Given the description of an element on the screen output the (x, y) to click on. 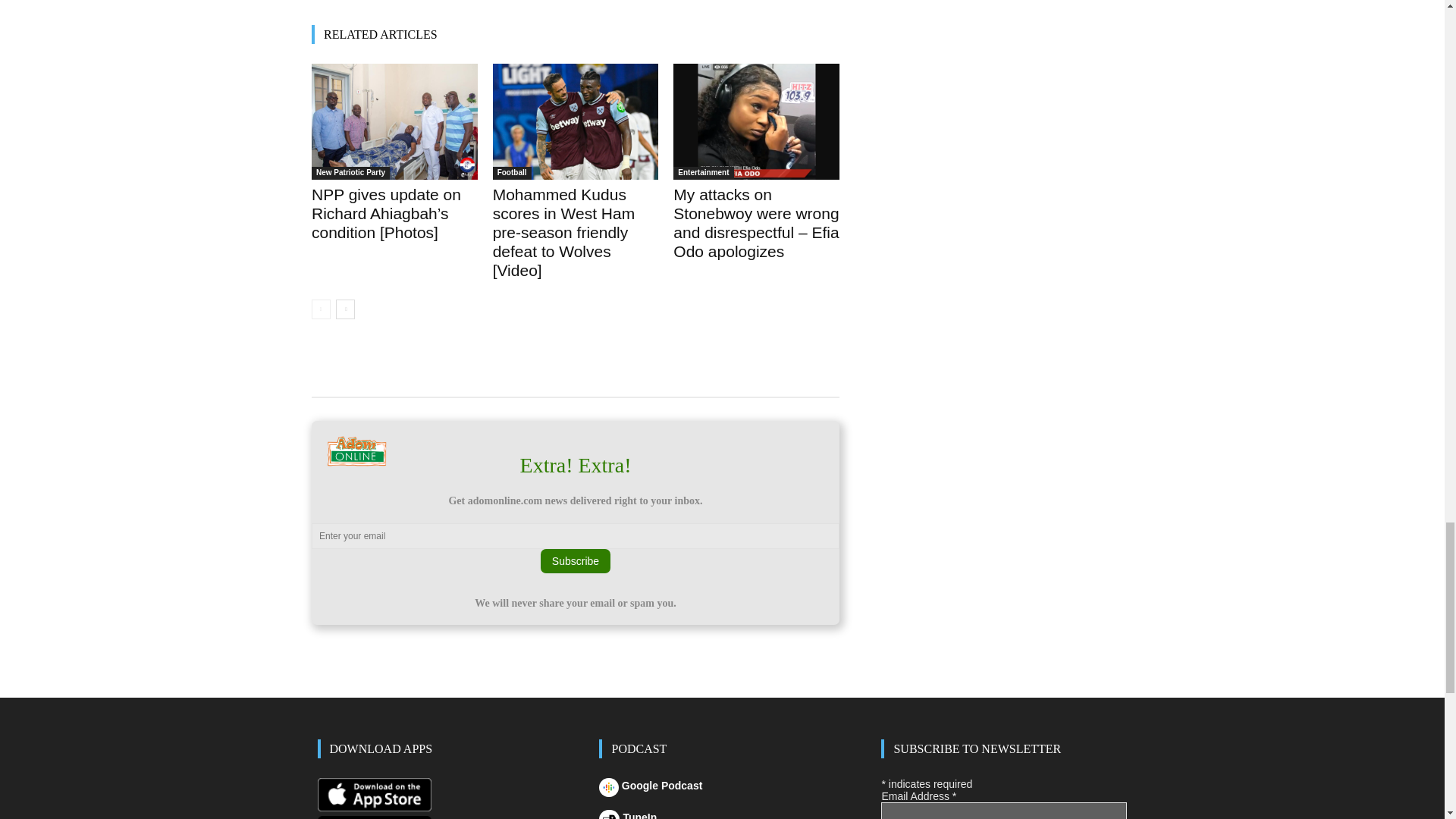
Subscribe (575, 560)
